Given the description of an element on the screen output the (x, y) to click on. 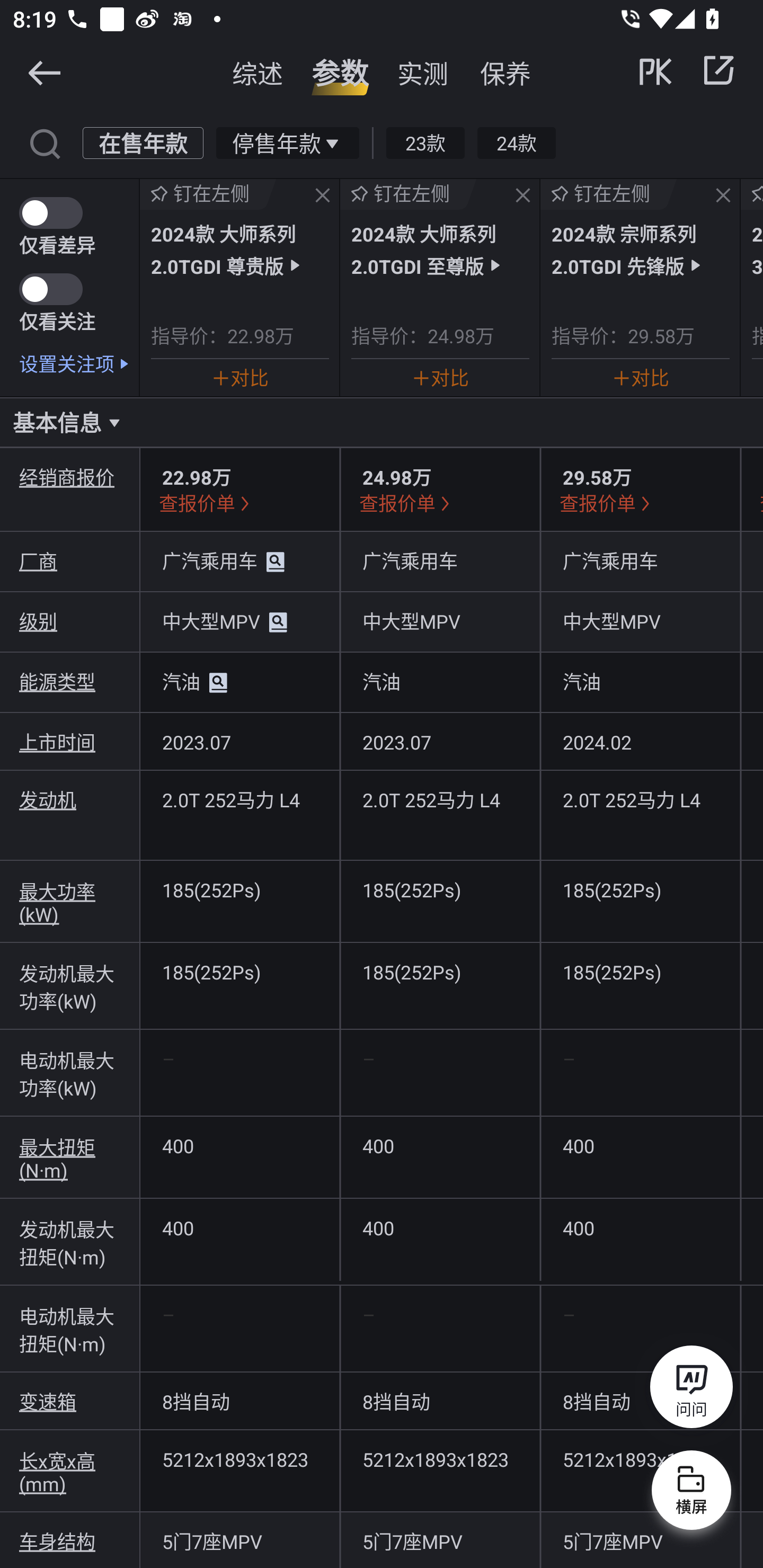
  (688, 70)
综述 (257, 72)
实测 (422, 72)
保养 (505, 72)
 (718, 70)
 (44, 71)
 (44, 142)
在售年款 (142, 142)
停售年款  (287, 142)
23款 (425, 142)
24款 (516, 142)
 钉在左侧 (207, 194)
 (322, 195)
 钉在左侧 (408, 194)
 (522, 195)
 钉在左侧 (608, 194)
 (722, 195)
2024款 大师系列 2.0TGDI 尊贵版  (239, 249)
2024款 大师系列 2.0TGDI 至尊版  (439, 249)
2024款 宗师系列 2.0TGDI 先锋版  (640, 249)
设置关注项  (79, 363)
对比 (239, 377)
对比 (440, 377)
对比 (640, 377)
基本信息  (381, 422)
经销商报价 (69, 476)
查报价单  (206, 502)
查报价单  (406, 502)
查报价单  (606, 502)
广汽乘用车< ><img> (239, 561)
广汽乘用车 (440, 560)
广汽乘用车 (640, 560)
厂商 (69, 560)
中大型MPV< ><img> (239, 622)
中大型MPV (440, 621)
中大型MPV (640, 621)
级别 (69, 620)
汽油< ><img> (239, 682)
汽油 (440, 681)
汽油 (640, 681)
能源类型 (69, 680)
2023.07 (239, 742)
2023.07 (440, 742)
2024.02 (640, 742)
上市时间 (69, 741)
2.0T 252马力 L4 (239, 799)
2.0T 252马力 L4 (440, 799)
2.0T 252马力 L4 (640, 799)
发动机 (69, 799)
185(252Ps) (239, 889)
185(252Ps) (440, 889)
185(252Ps) (640, 889)
最大功率(kW) (69, 901)
185(252Ps) (239, 971)
185(252Ps) (440, 971)
185(252Ps) (640, 971)
发动机最大功率(kW) (69, 986)
电动机最大功率(kW) (69, 1072)
400 (239, 1145)
400 (440, 1145)
400 (640, 1145)
最大扭矩(N·m) (69, 1157)
400 (239, 1227)
400 (440, 1227)
400 (640, 1227)
发动机最大扭矩(N·m) (69, 1242)
电动机最大扭矩(N·m) (69, 1328)
 问问 (691, 1389)
8挡自动 (239, 1401)
8挡自动 (440, 1401)
8挡自动 (640, 1401)
变速箱 (69, 1400)
5212x1893x1823 (239, 1459)
5212x1893x1823 (440, 1459)
长x宽x高(mm) (69, 1470)
5门7座MPV (239, 1540)
5门7座MPV (440, 1540)
5门7座MPV (640, 1540)
车身结构 (69, 1540)
